Given the description of an element on the screen output the (x, y) to click on. 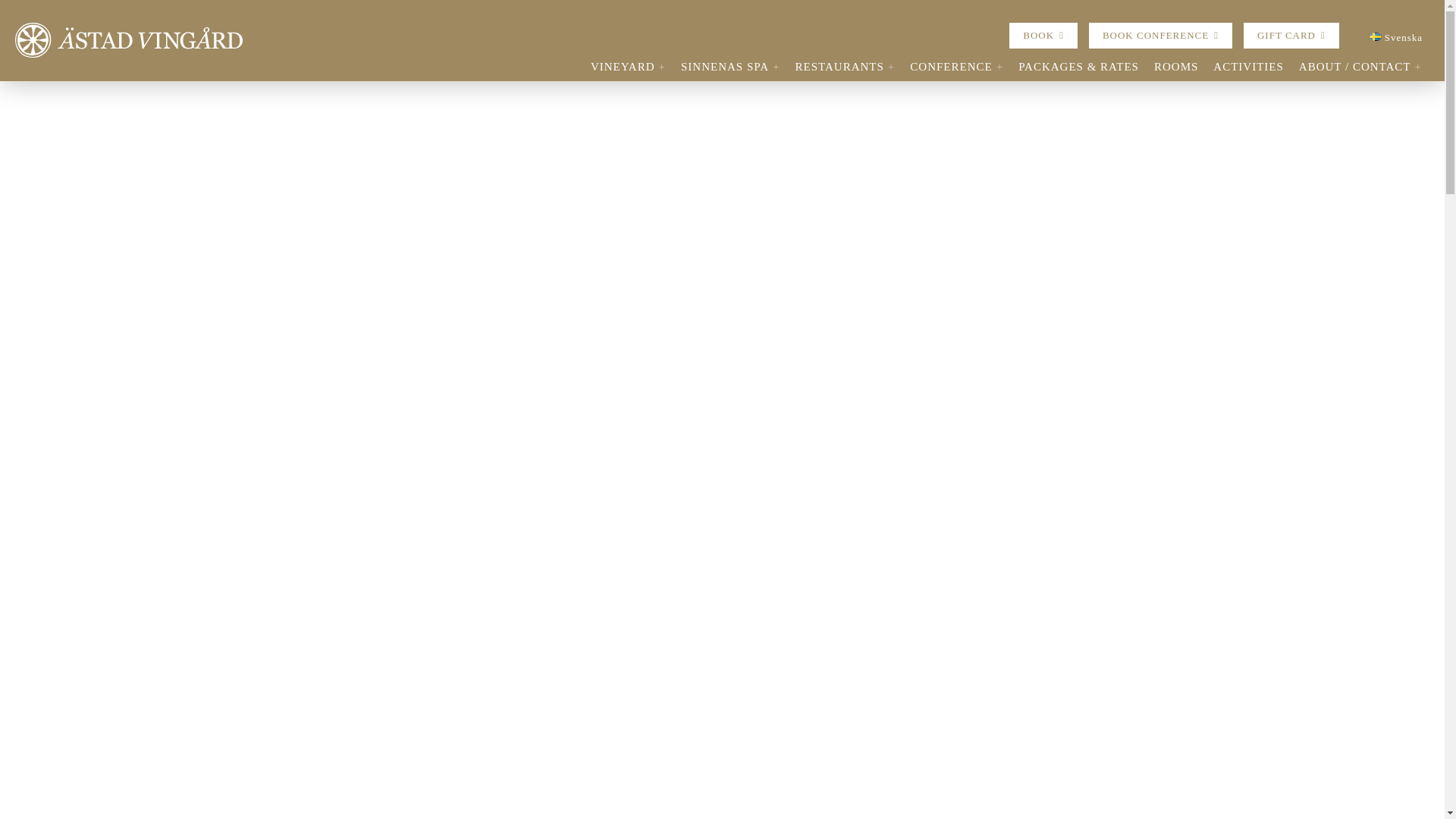
BOOK (1043, 33)
BOOK CONFERENCE (1160, 33)
